Given the description of an element on the screen output the (x, y) to click on. 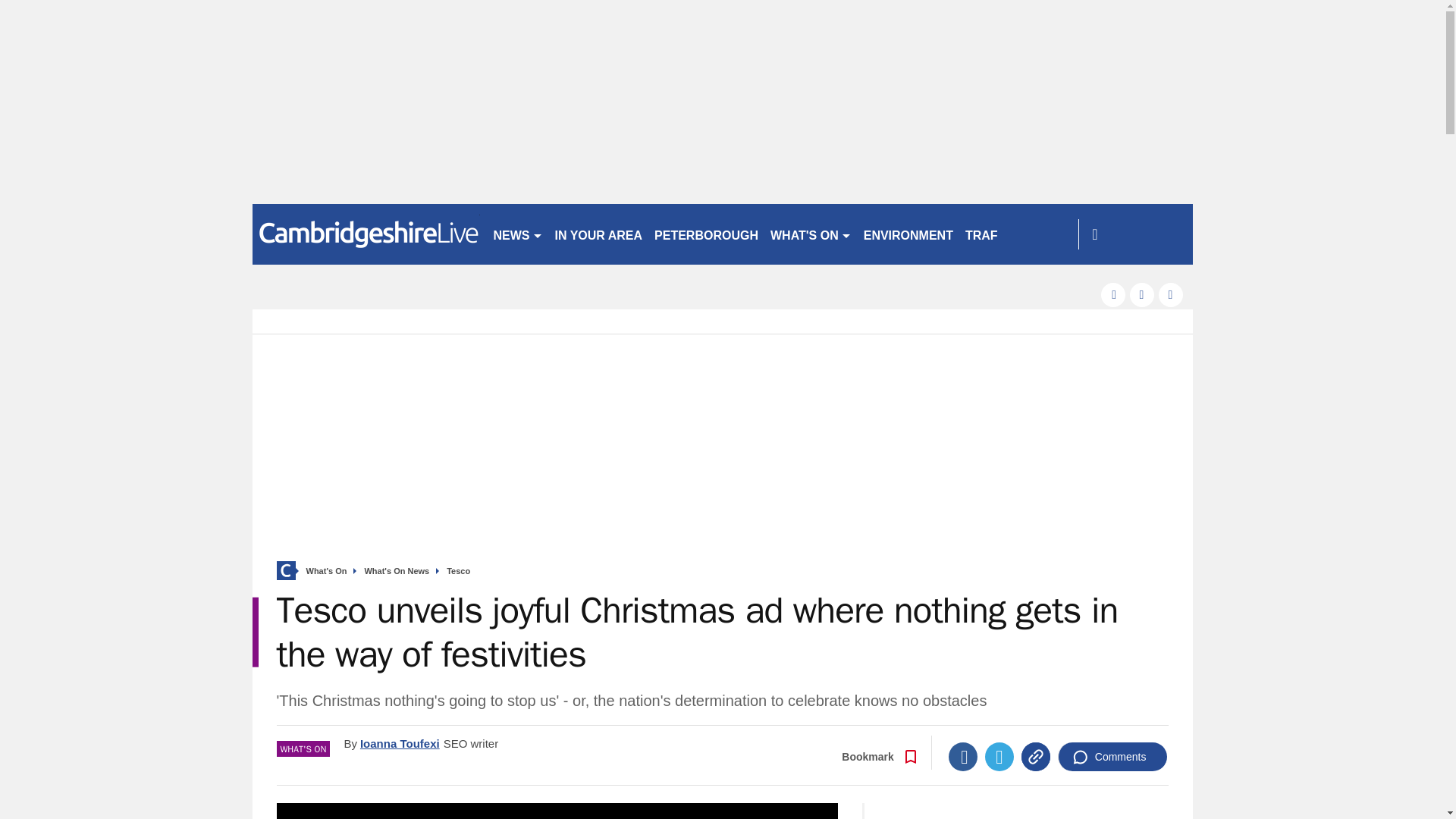
WHAT'S ON (810, 233)
IN YOUR AREA (598, 233)
facebook (1112, 294)
ENVIRONMENT (908, 233)
twitter (1141, 294)
Facebook (962, 756)
NEWS (517, 233)
instagram (1170, 294)
Comments (1112, 756)
PETERBOROUGH (705, 233)
